Given the description of an element on the screen output the (x, y) to click on. 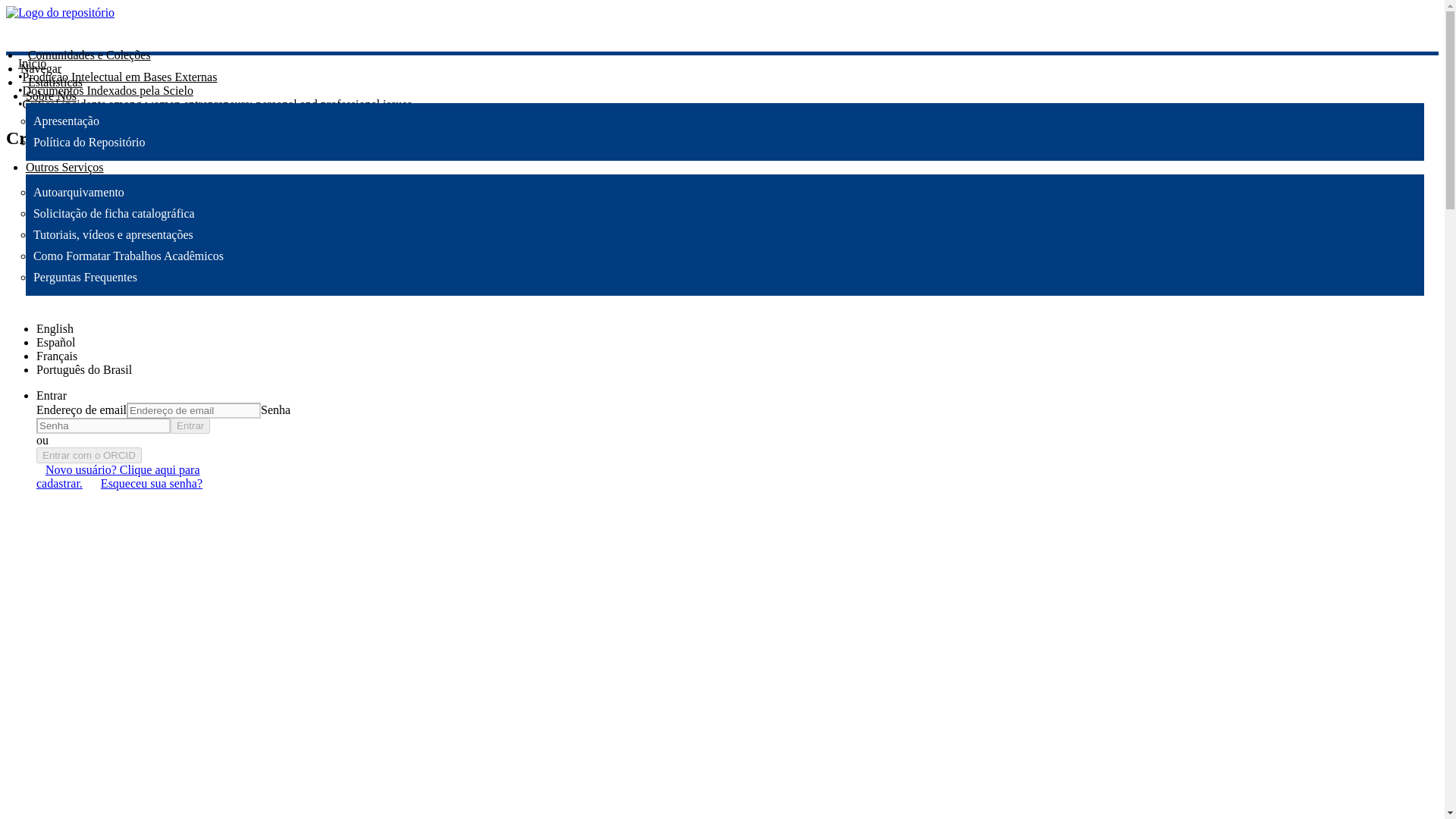
Entrar (51, 395)
Documentos Indexados pela Scielo (108, 90)
Esqueceu sua senha? (151, 483)
Perguntas Frequentes (84, 277)
Navegar (40, 68)
Autoarquivamento (78, 192)
Entrar com o ORCID (88, 455)
Entrar (189, 425)
